Given the description of an element on the screen output the (x, y) to click on. 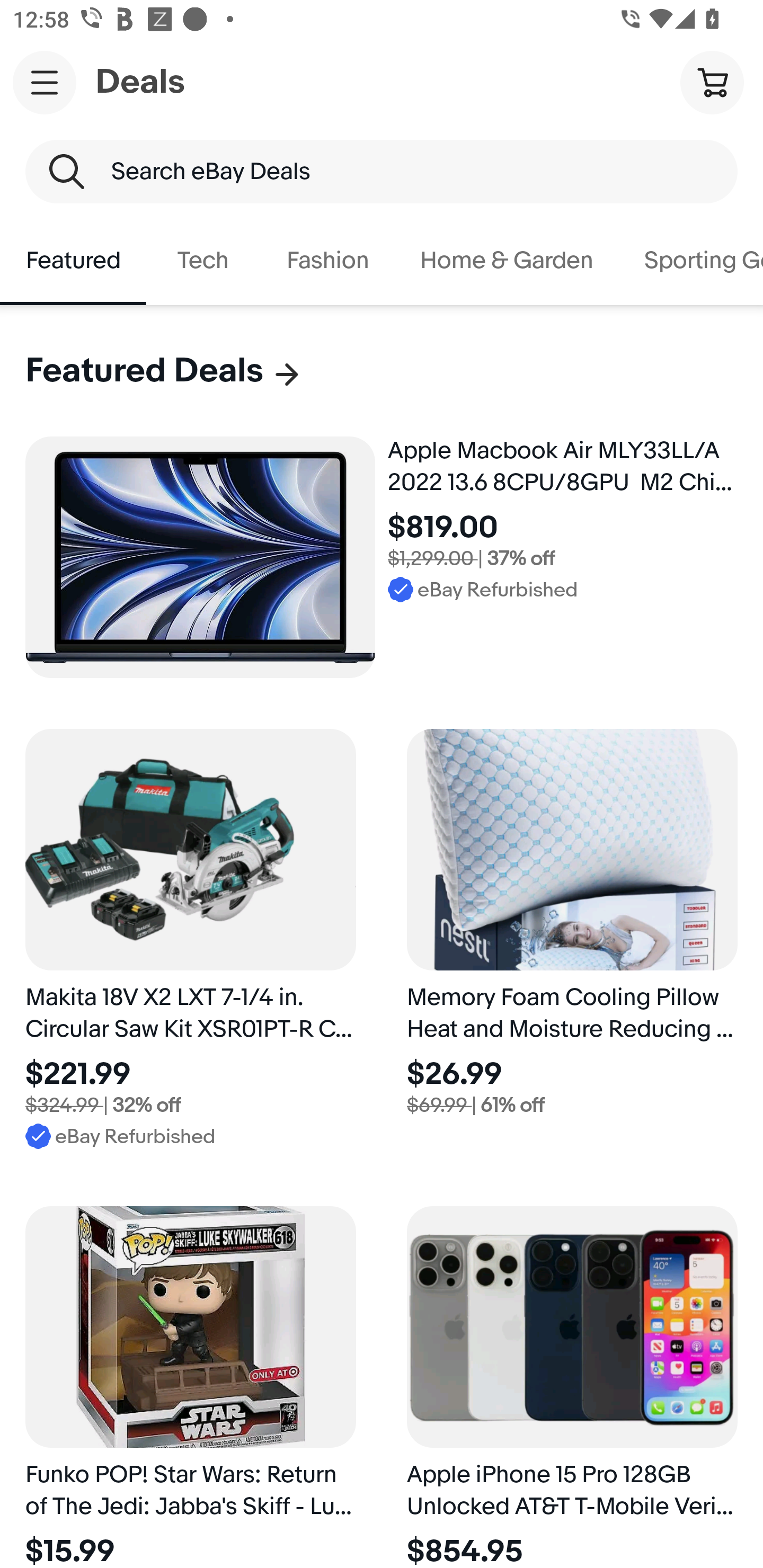
Main navigation, open (44, 82)
Cart button shopping cart (711, 81)
Search eBay Deals Search Keyword Search eBay Deals (381, 171)
Tech. Button. 2 of 7. Tech (203, 260)
Fashion. Button. 3 of 7. Fashion (327, 260)
Home & Garden. Button. 4 of 7. Home & Garden (506, 260)
Featured Deals   Featured Deals,7 items (163, 370)
